Given the description of an element on the screen output the (x, y) to click on. 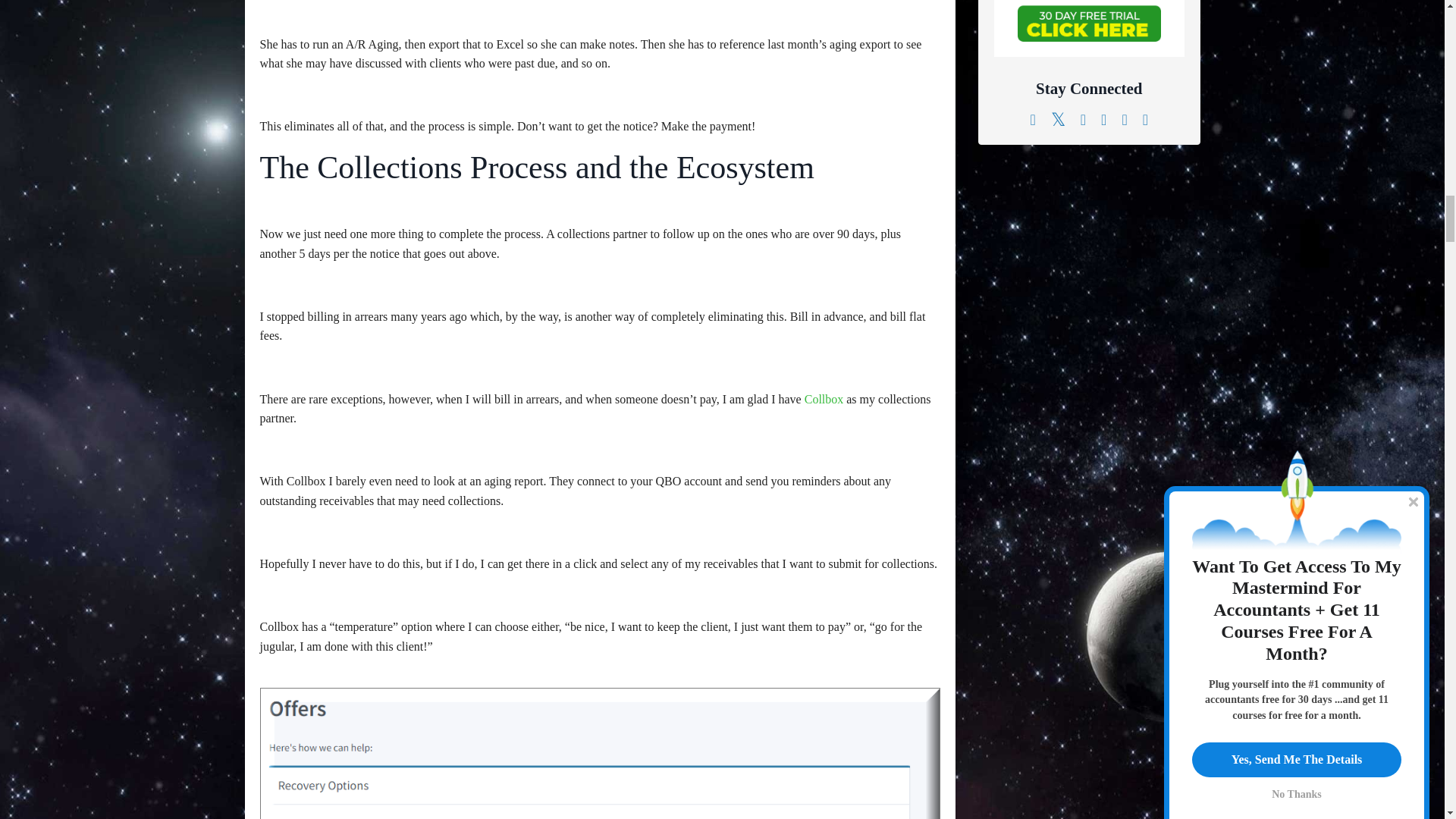
Collbox (824, 399)
